Given the description of an element on the screen output the (x, y) to click on. 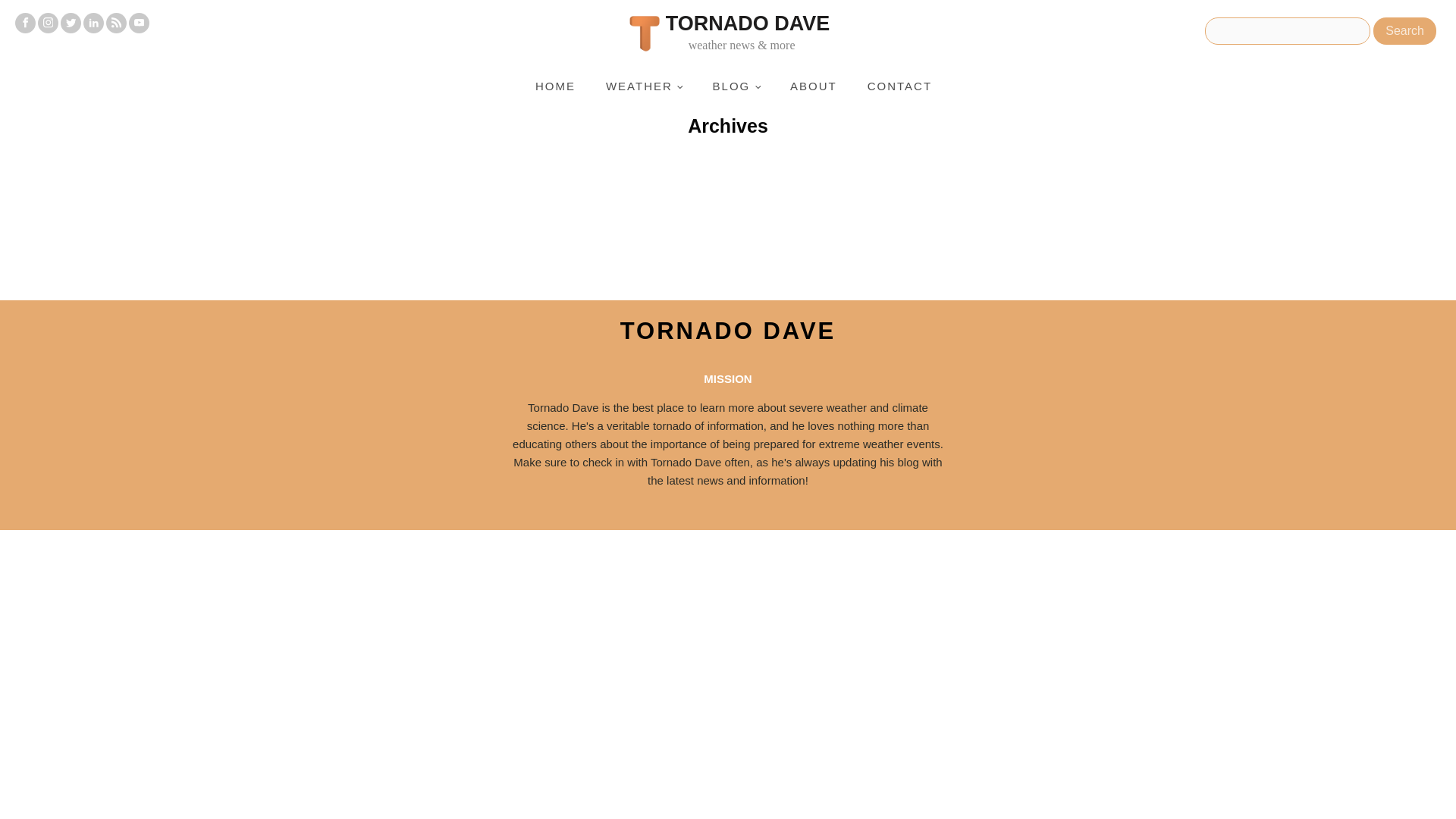
HOME (555, 86)
BLOG (735, 86)
Search (1404, 31)
Search (1404, 31)
TORNADO DAVE (727, 330)
CONTACT (899, 86)
ABOUT (812, 86)
WEATHER (644, 86)
